Given the description of an element on the screen output the (x, y) to click on. 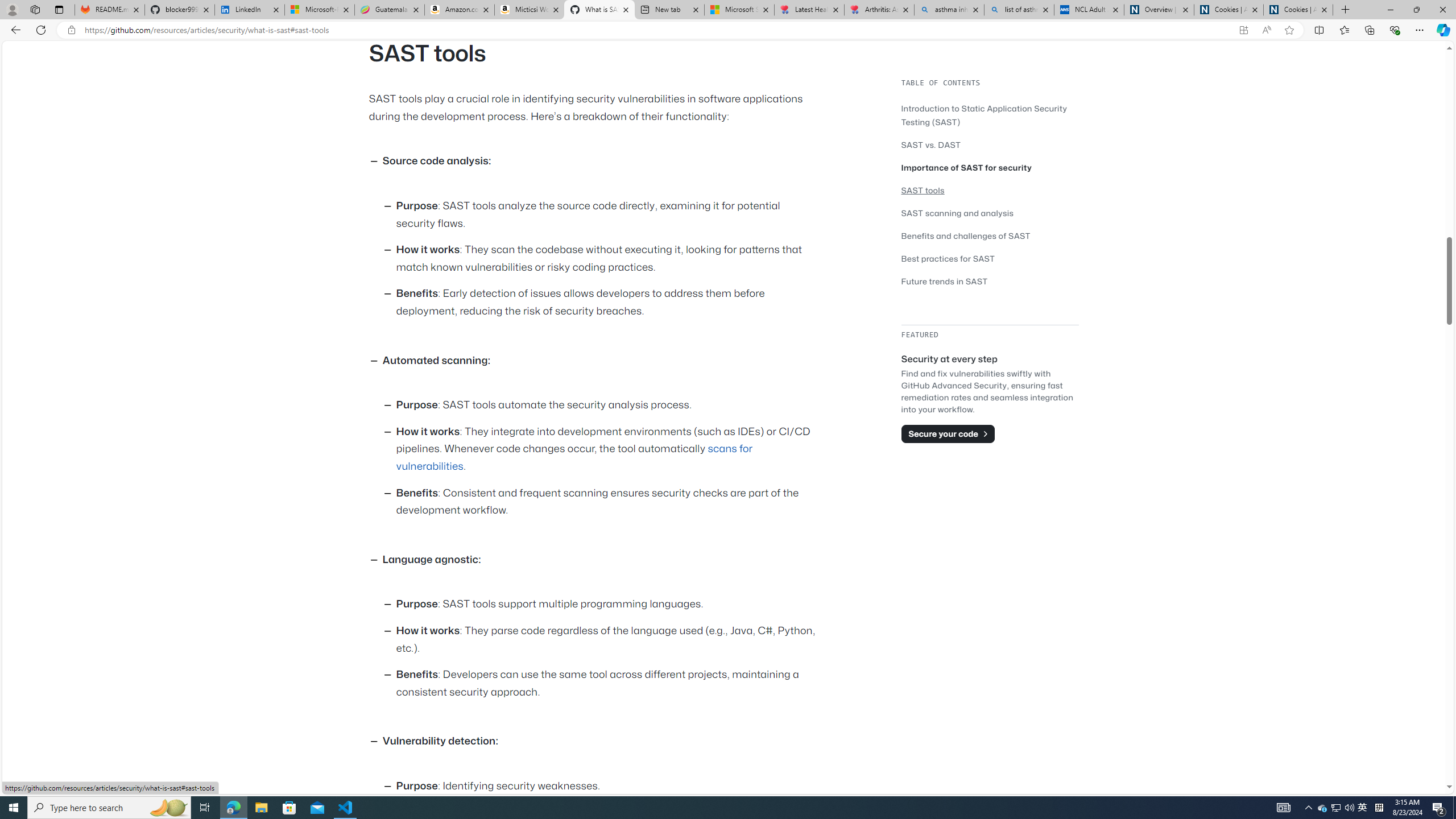
LinkedIn (249, 9)
Purpose: Identifying security weaknesses. (608, 786)
list of asthma inhalers uk - Search (1018, 9)
Introduction to Static Application Security Testing (SAST) (984, 114)
SAST scanning and analysis (989, 212)
